Given the description of an element on the screen output the (x, y) to click on. 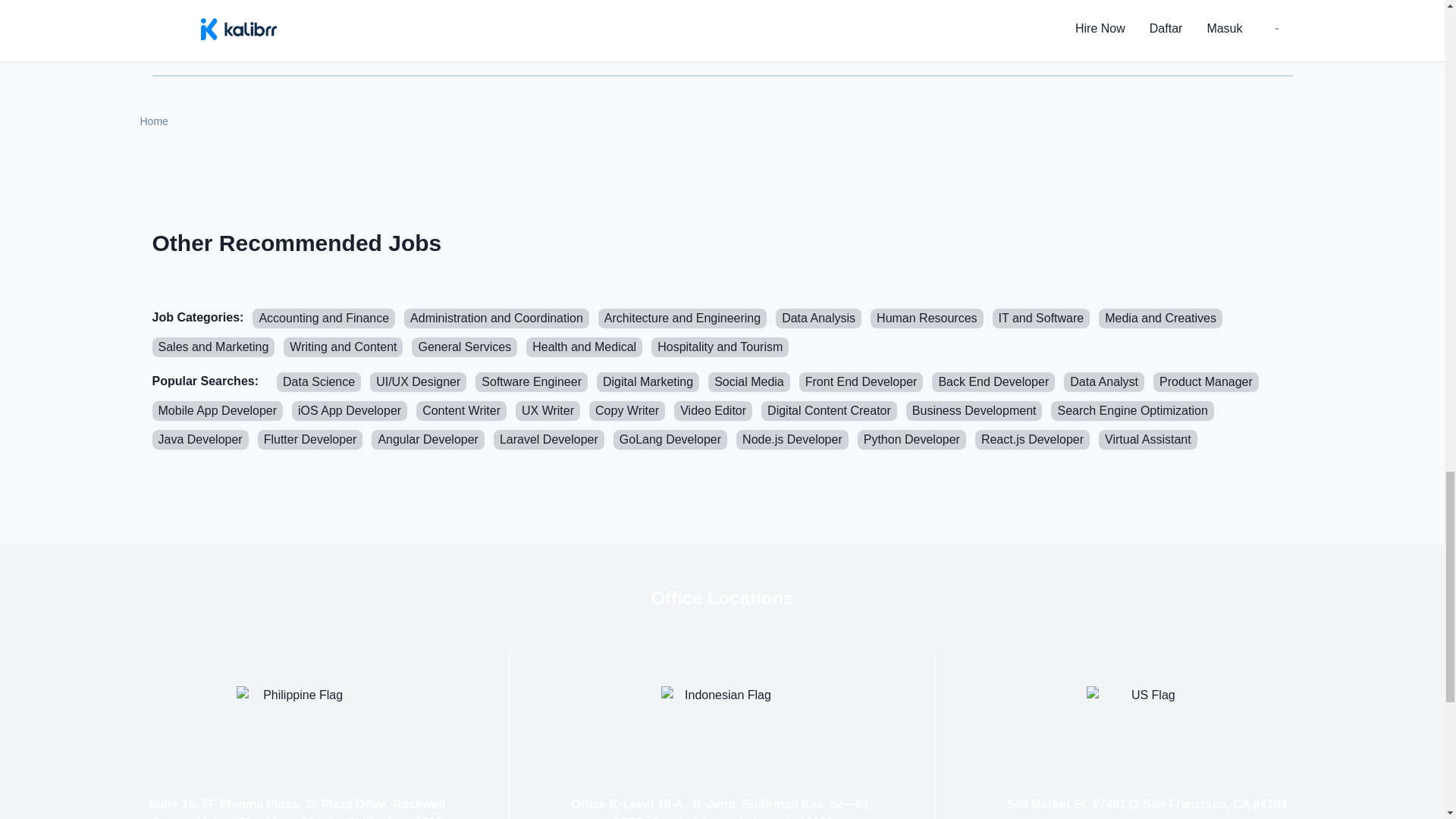
General Services (464, 347)
Media and Creatives (1161, 318)
Administration and Coordination (496, 318)
Human Resources (927, 318)
Accounting and Finance (322, 318)
Health and Medical (583, 347)
Home (153, 121)
IT and Software (1041, 318)
Data Analysis (818, 318)
Architecture and Engineering (682, 318)
Writing and Content (343, 347)
Sales and Marketing (213, 347)
Hospitality and Tourism (719, 347)
